Given the description of an element on the screen output the (x, y) to click on. 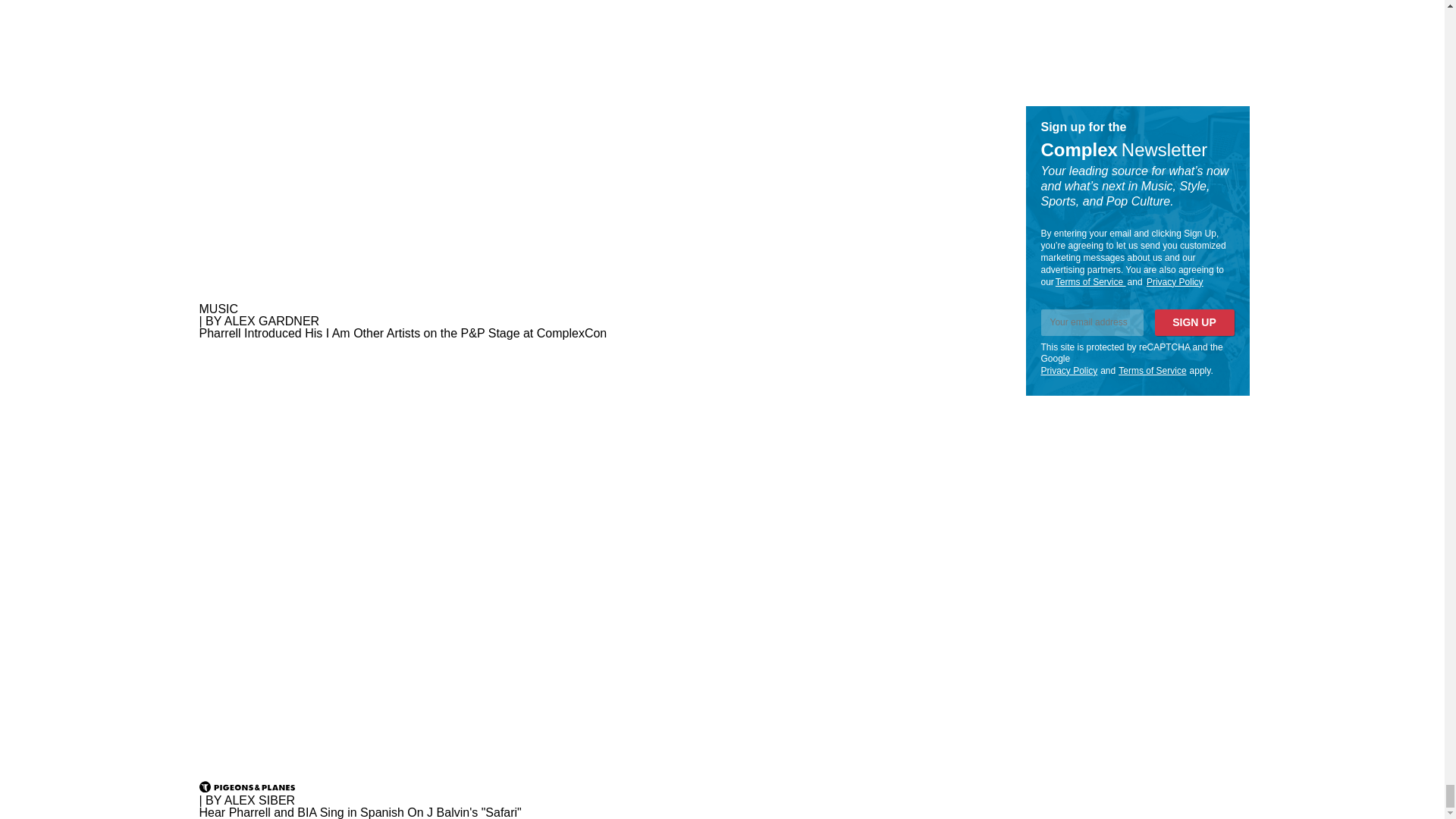
Pigeons and Planes logo (246, 786)
